Given the description of an element on the screen output the (x, y) to click on. 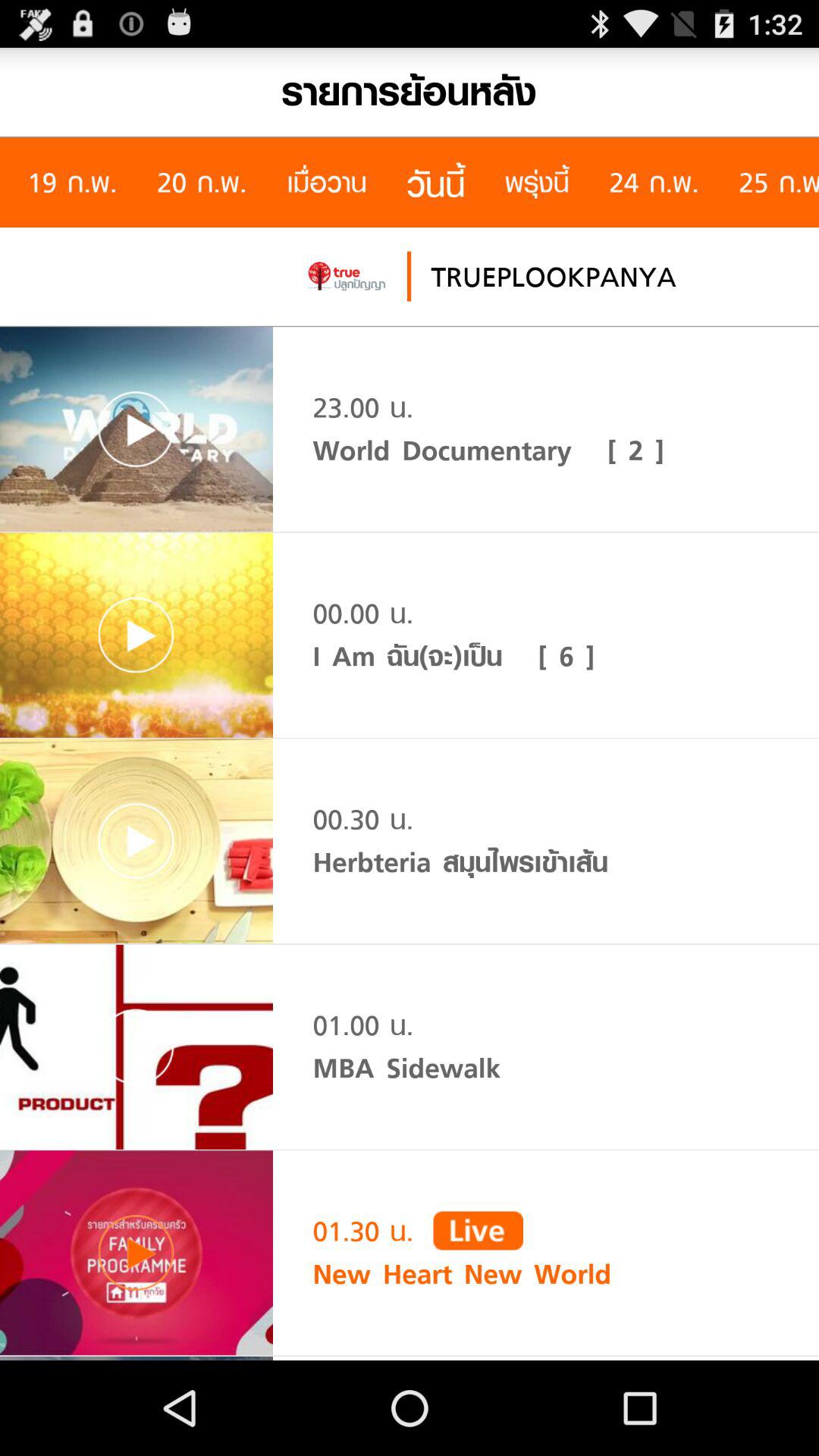
choose the new heart new item (461, 1274)
